Given the description of an element on the screen output the (x, y) to click on. 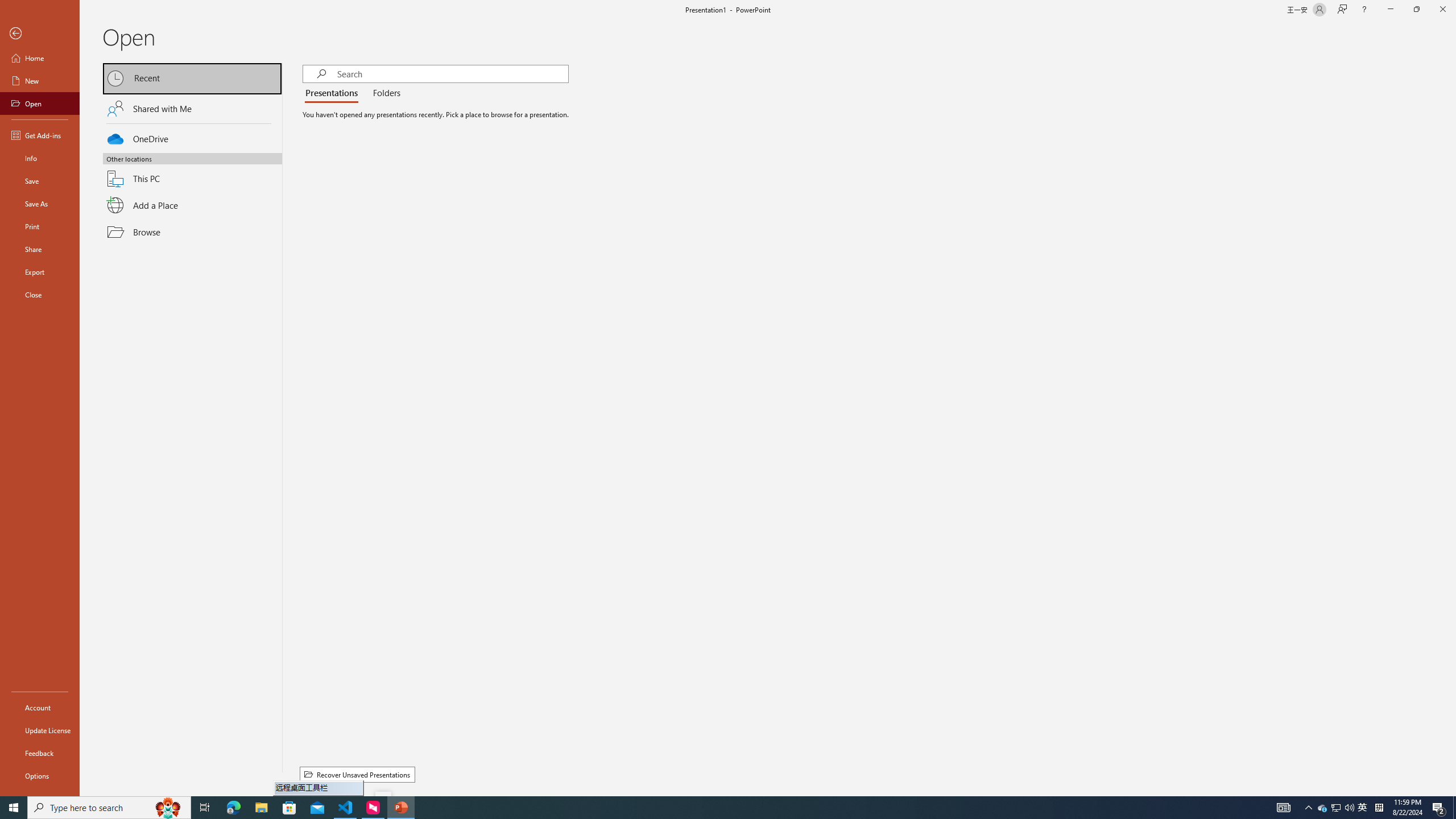
Update License (40, 730)
Info (40, 157)
